Given the description of an element on the screen output the (x, y) to click on. 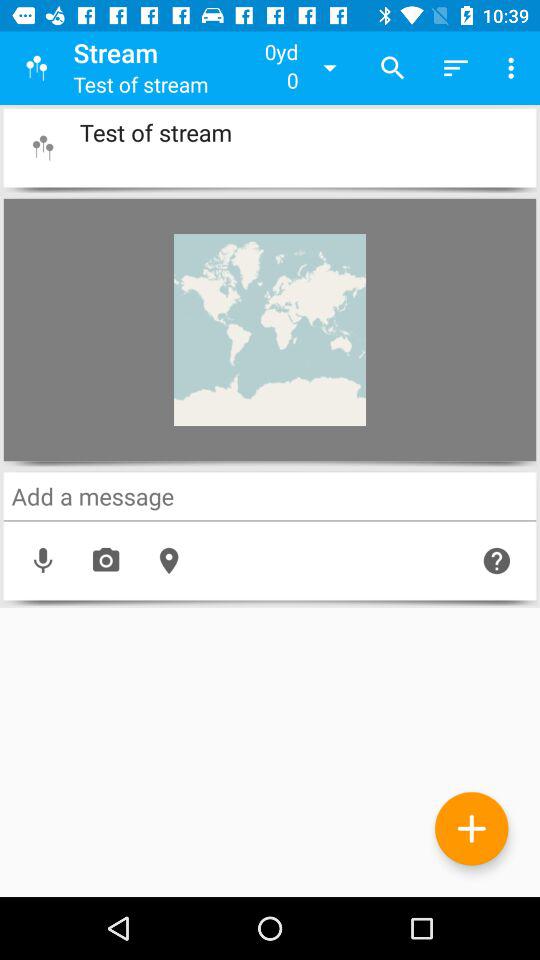
add a new item (471, 828)
